Given the description of an element on the screen output the (x, y) to click on. 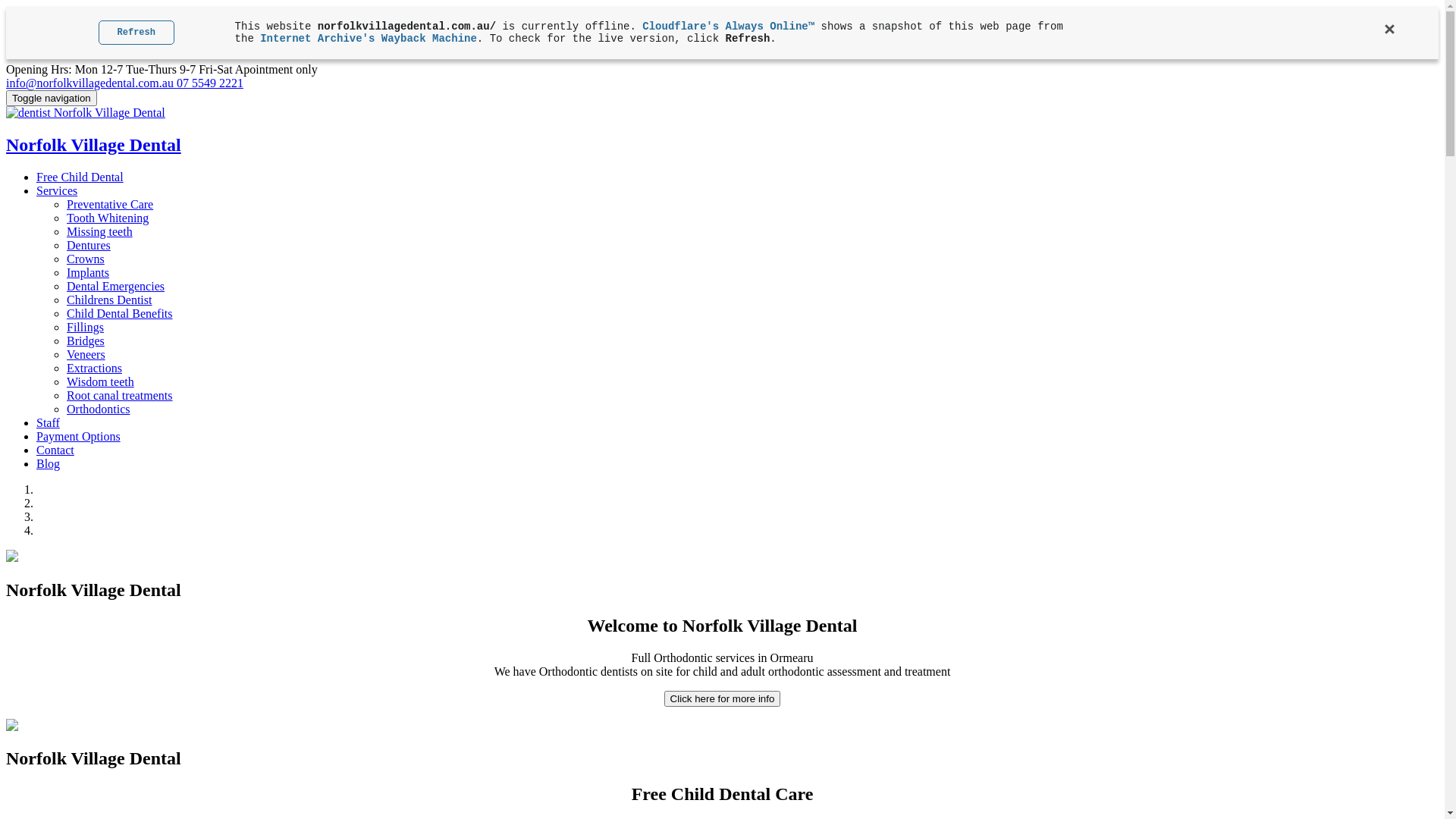
Child Dental Benefits Element type: text (119, 313)
Implants Element type: text (87, 272)
Click here for more info Element type: text (722, 697)
Dental Emergencies Element type: text (115, 285)
Dentures Element type: text (88, 244)
Contact Element type: text (55, 449)
Orthodontics Element type: text (98, 408)
Blog Element type: text (47, 463)
Click here for more info Element type: text (722, 698)
Internet Archive's Wayback Machine Element type: text (368, 38)
Payment Options Element type: text (78, 435)
Missing teeth Element type: text (99, 231)
Fillings Element type: text (84, 326)
Toggle navigation Element type: text (51, 98)
Childrens Dentist Element type: text (108, 299)
Bridges Element type: text (85, 340)
Free Child Dental Element type: text (79, 176)
Crowns Element type: text (85, 258)
Root canal treatments Element type: text (119, 395)
Refresh Element type: text (136, 32)
Extractions Element type: text (94, 367)
Tooth Whitening Element type: text (107, 217)
Wisdom teeth Element type: text (100, 381)
Norfolk Village Dental Element type: text (722, 130)
Staff Element type: text (47, 422)
Veneers Element type: text (85, 354)
info@norfolkvillagedental.com.au Element type: text (91, 82)
Services Element type: text (56, 190)
Preventative Care Element type: text (109, 203)
07 5549 2221 Element type: text (209, 82)
